Given the description of an element on the screen output the (x, y) to click on. 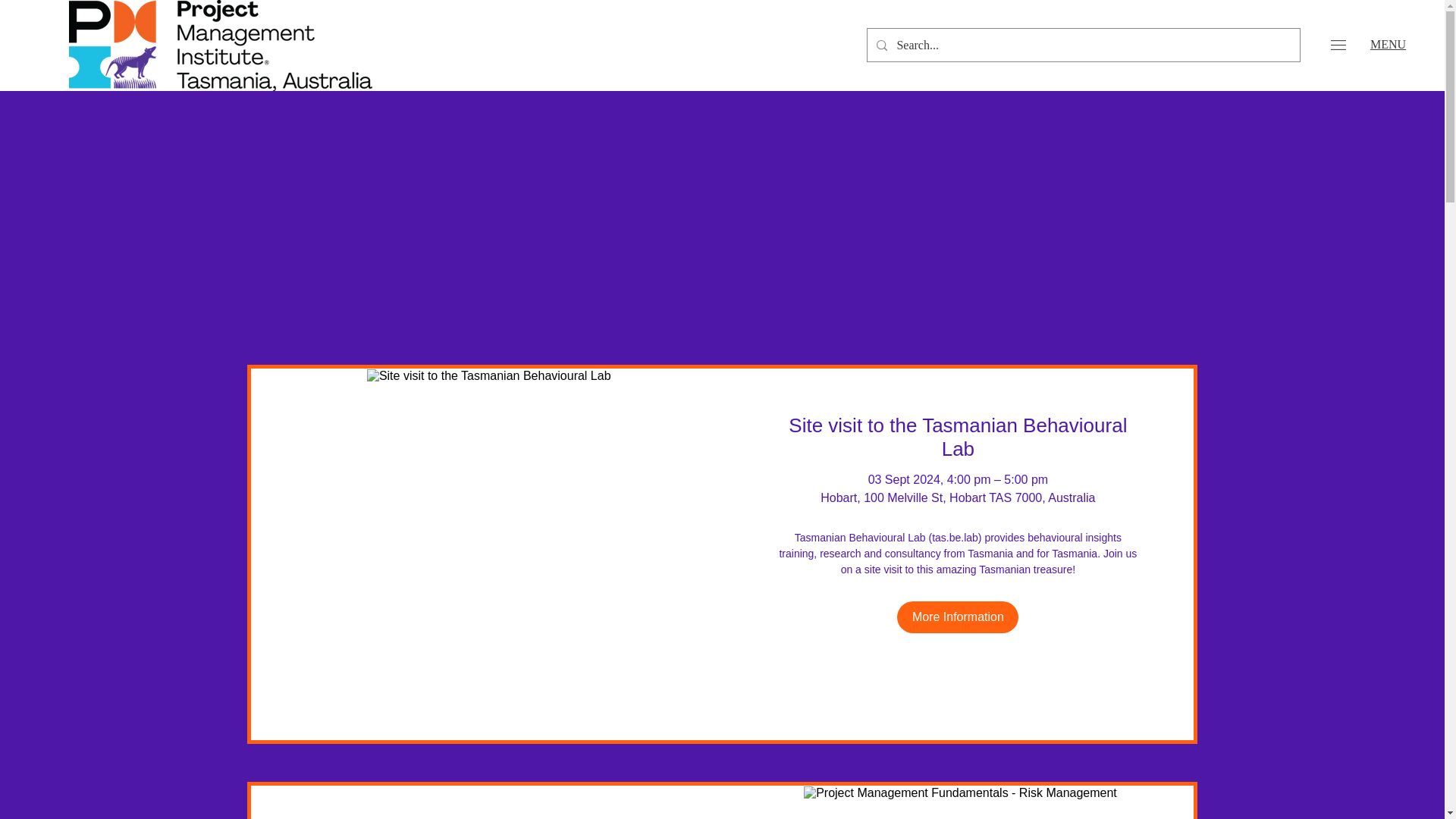
MENU (1388, 43)
Site visit to the Tasmanian Behavioural Lab (957, 437)
More Information (956, 617)
